Given the description of an element on the screen output the (x, y) to click on. 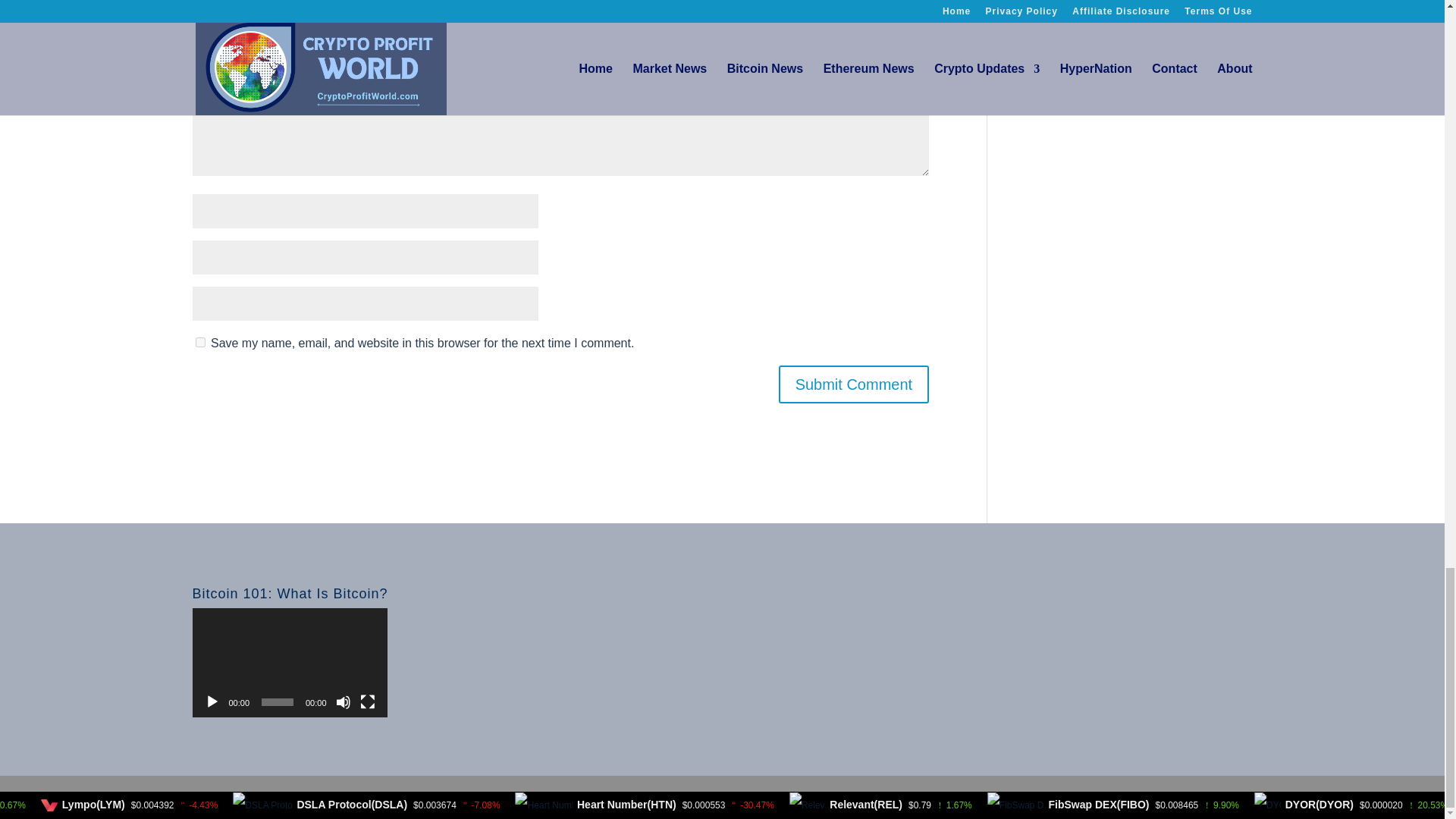
Play (212, 702)
Mute (342, 702)
Submit Comment (854, 384)
yes (200, 342)
Fullscreen (366, 702)
